Given the description of an element on the screen output the (x, y) to click on. 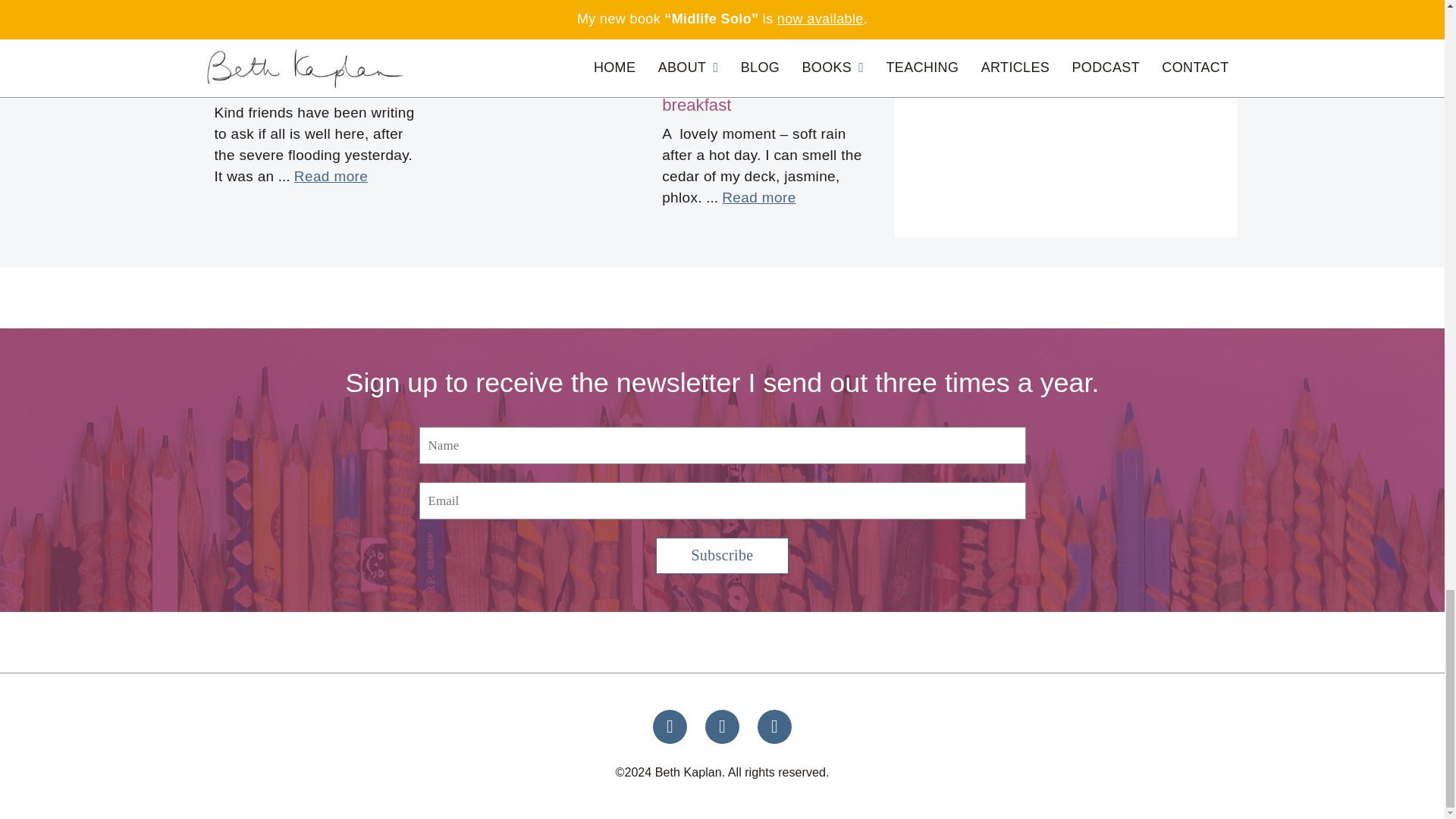
Read more (331, 176)
weathering the storm (292, 83)
Read more (758, 197)
Read more (592, 25)
The Pigeon Tunnel, and breakfast (751, 94)
Subscribe (722, 555)
